Given the description of an element on the screen output the (x, y) to click on. 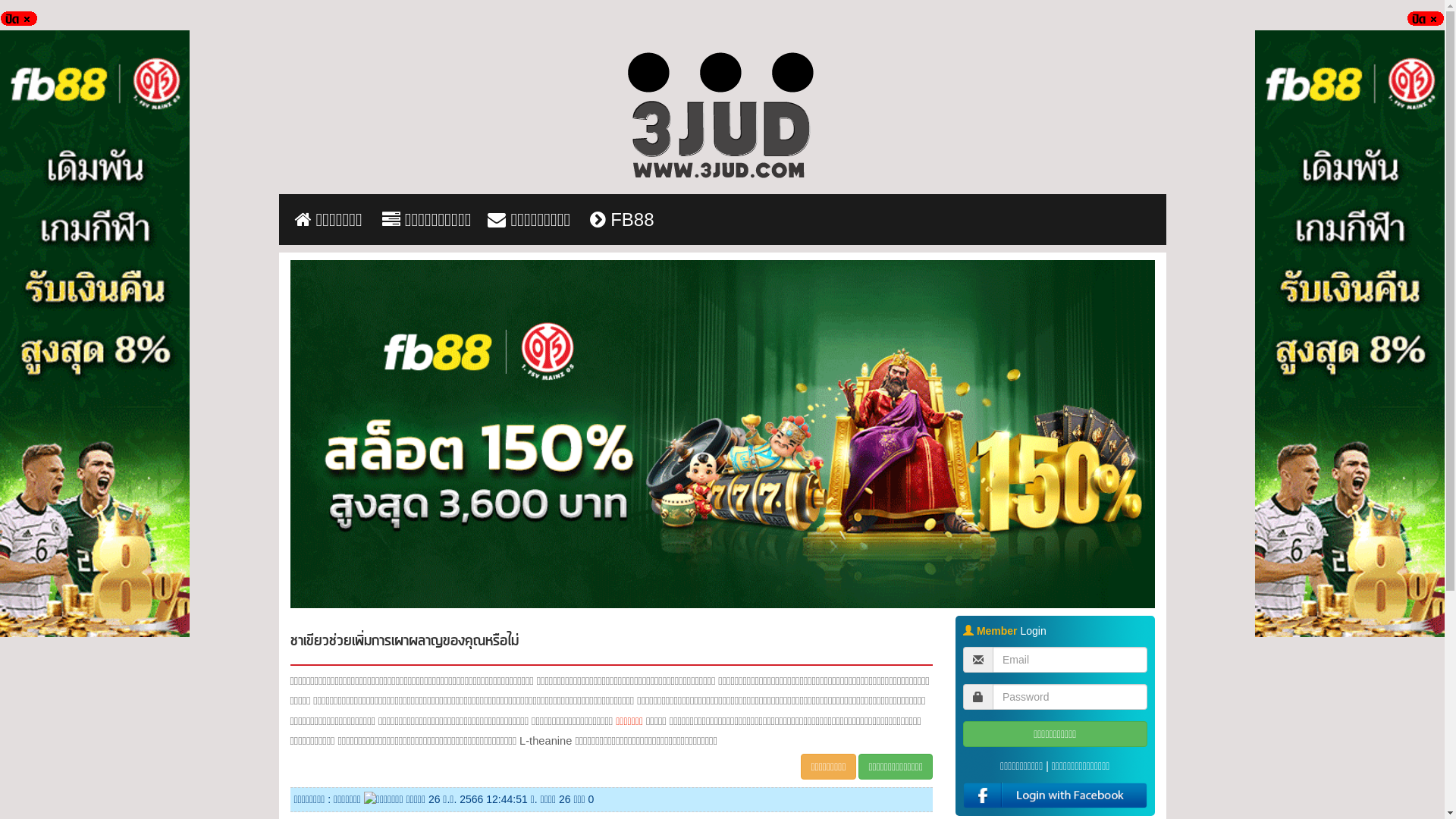
3jud.com Element type: hover (721, 118)
Login with Facebook Element type: hover (1055, 794)
FB88 Element type: text (621, 219)
